Given the description of an element on the screen output the (x, y) to click on. 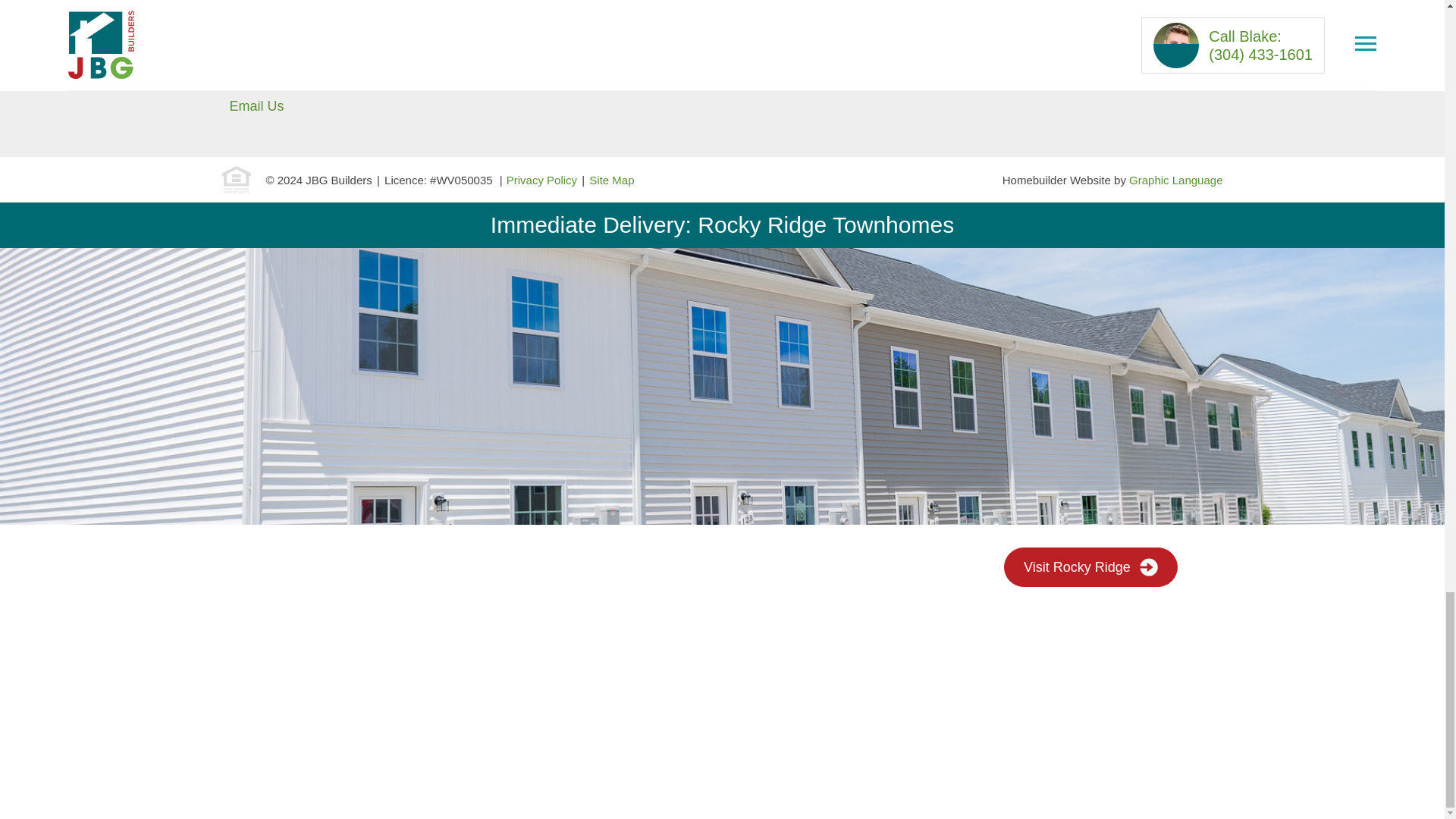
4115 Charles Town Road, Kearneysville WV 25430 (383, 54)
